Given the description of an element on the screen output the (x, y) to click on. 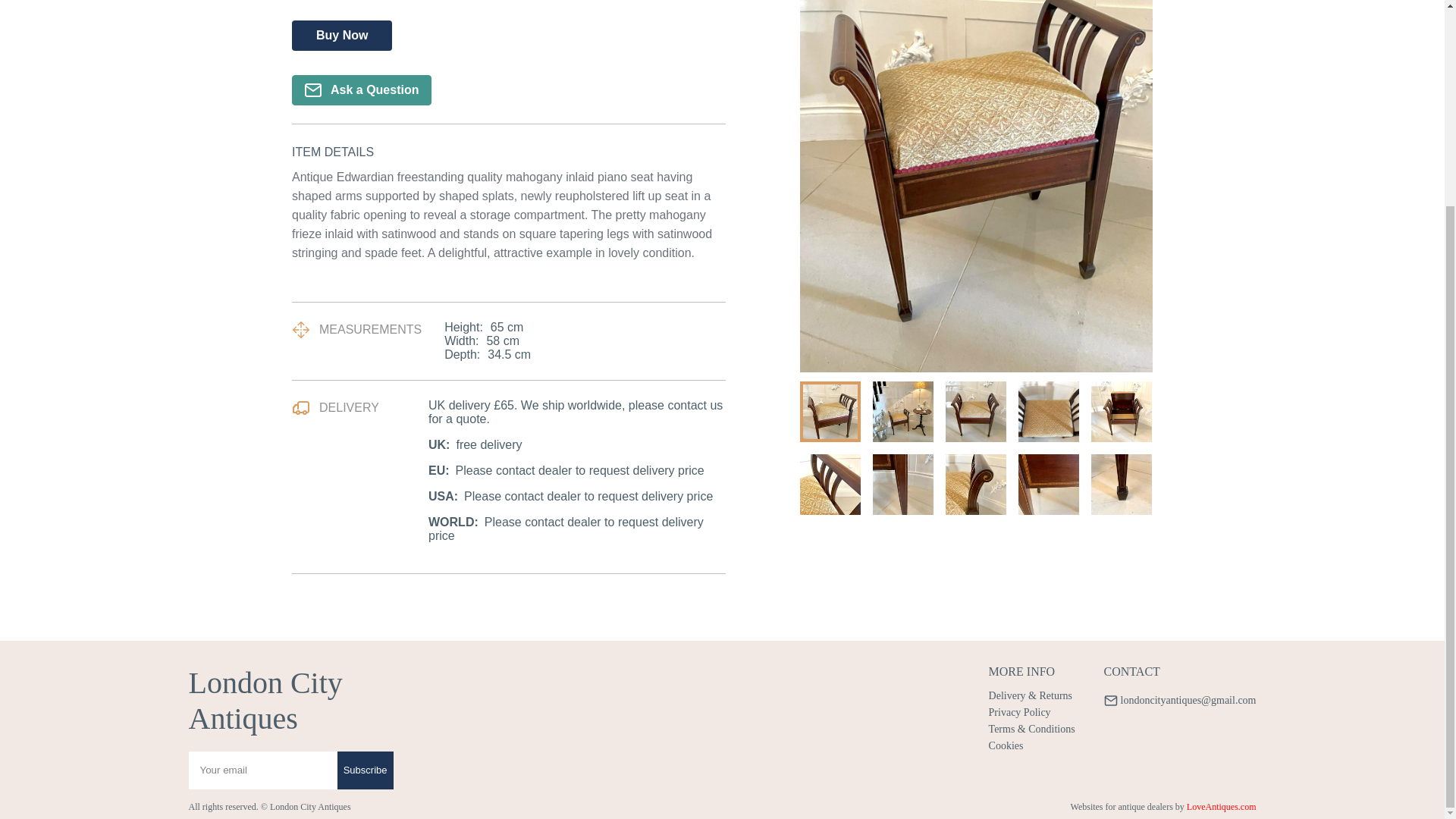
Item Additional Image (902, 411)
LoveAntiques.com (1221, 806)
Item Main Image (976, 186)
Privacy Policy (1034, 712)
Item Additional Image (1120, 411)
Envelope Icon (312, 90)
Item Additional Image (902, 484)
Item Additional Image (1047, 484)
Measurements Icon (301, 330)
Delivery Icon (301, 407)
Buy Now (341, 34)
Item Additional Image (829, 411)
Ask a Question (361, 90)
Item Additional Image (975, 484)
Item Additional Image (1120, 484)
